Given the description of an element on the screen output the (x, y) to click on. 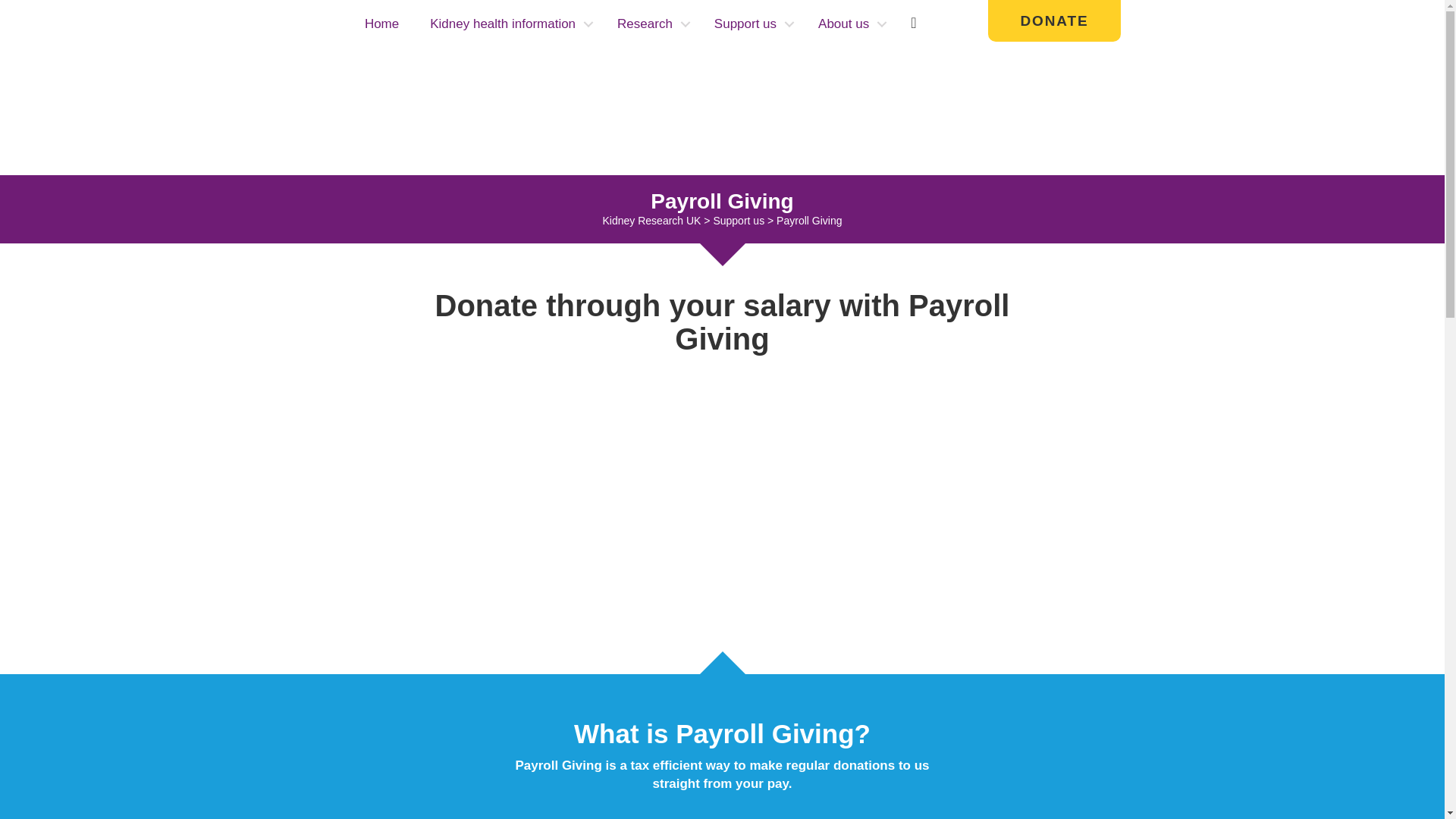
Support us (750, 24)
About us (849, 24)
Home (381, 24)
Go to Support us. (738, 220)
Go to Kidney Research UK. (651, 220)
Kidney health information (507, 24)
payroll-giving (722, 495)
Research (650, 24)
